Given the description of an element on the screen output the (x, y) to click on. 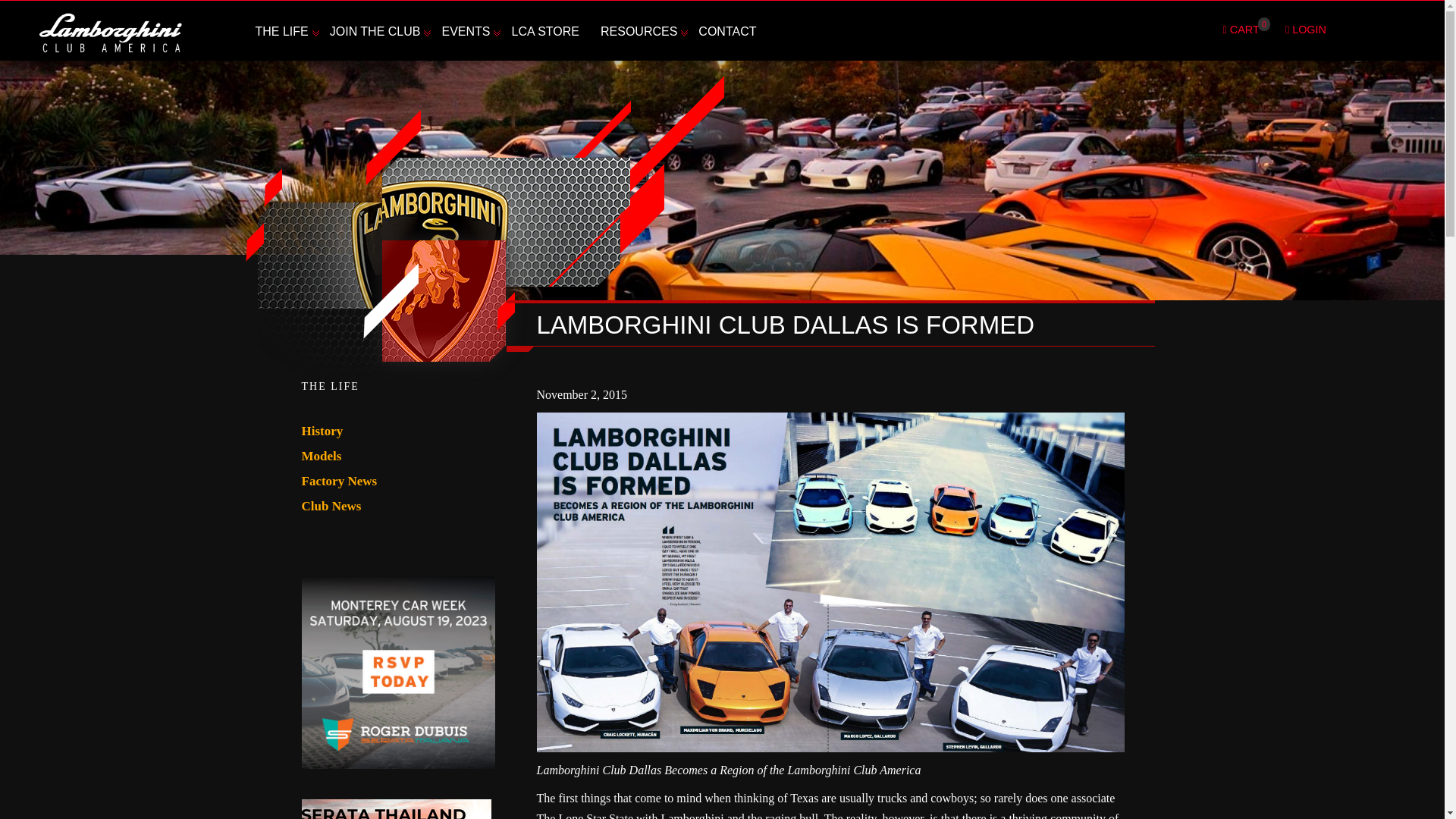
BENEFITS (398, 53)
HISTORY (324, 53)
saturday, august 19, 2023 (398, 672)
LA VITA MAGAZINE (669, 53)
CONCOURS JUDGING RULES (509, 61)
Lamborghini Club America (110, 32)
FERRUCCIO LAMBORGHINI (483, 61)
THE LIFE (281, 31)
CART 0 (1243, 29)
JOIN THE CLUB (375, 31)
